Given the description of an element on the screen output the (x, y) to click on. 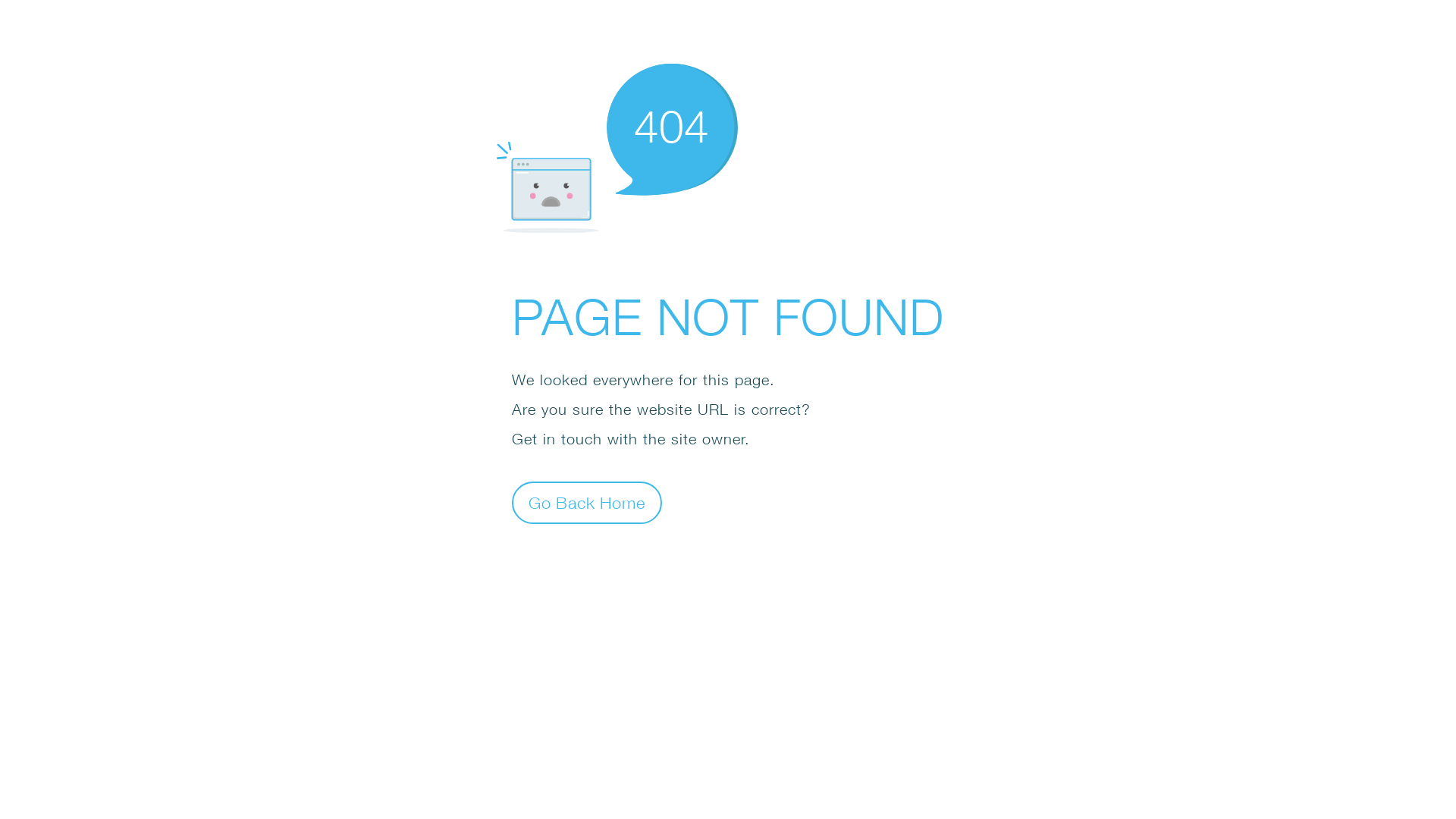
Go Back Home Element type: text (586, 502)
